Given the description of an element on the screen output the (x, y) to click on. 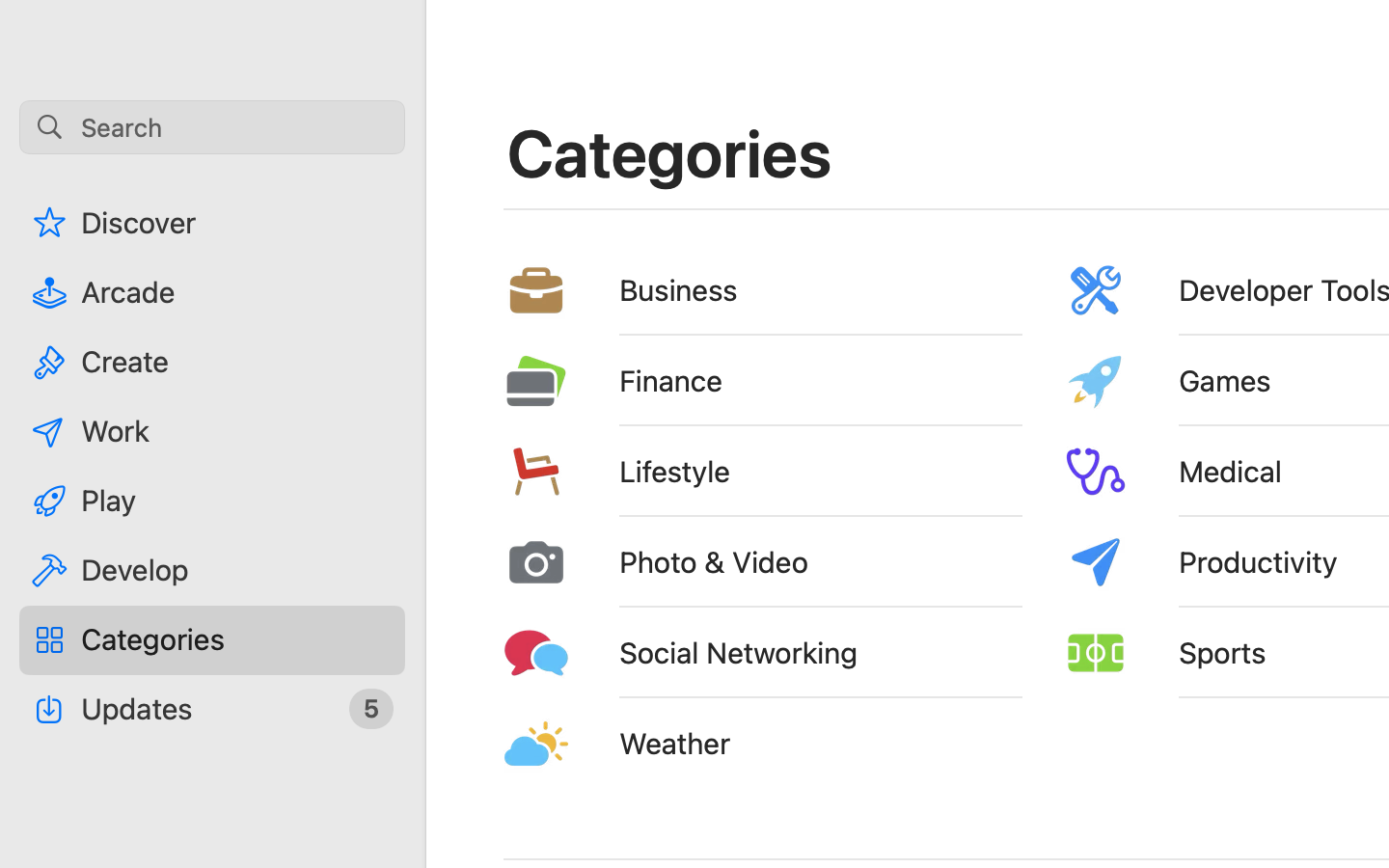
Categories Element type: AXStaticText (670, 151)
